Given the description of an element on the screen output the (x, y) to click on. 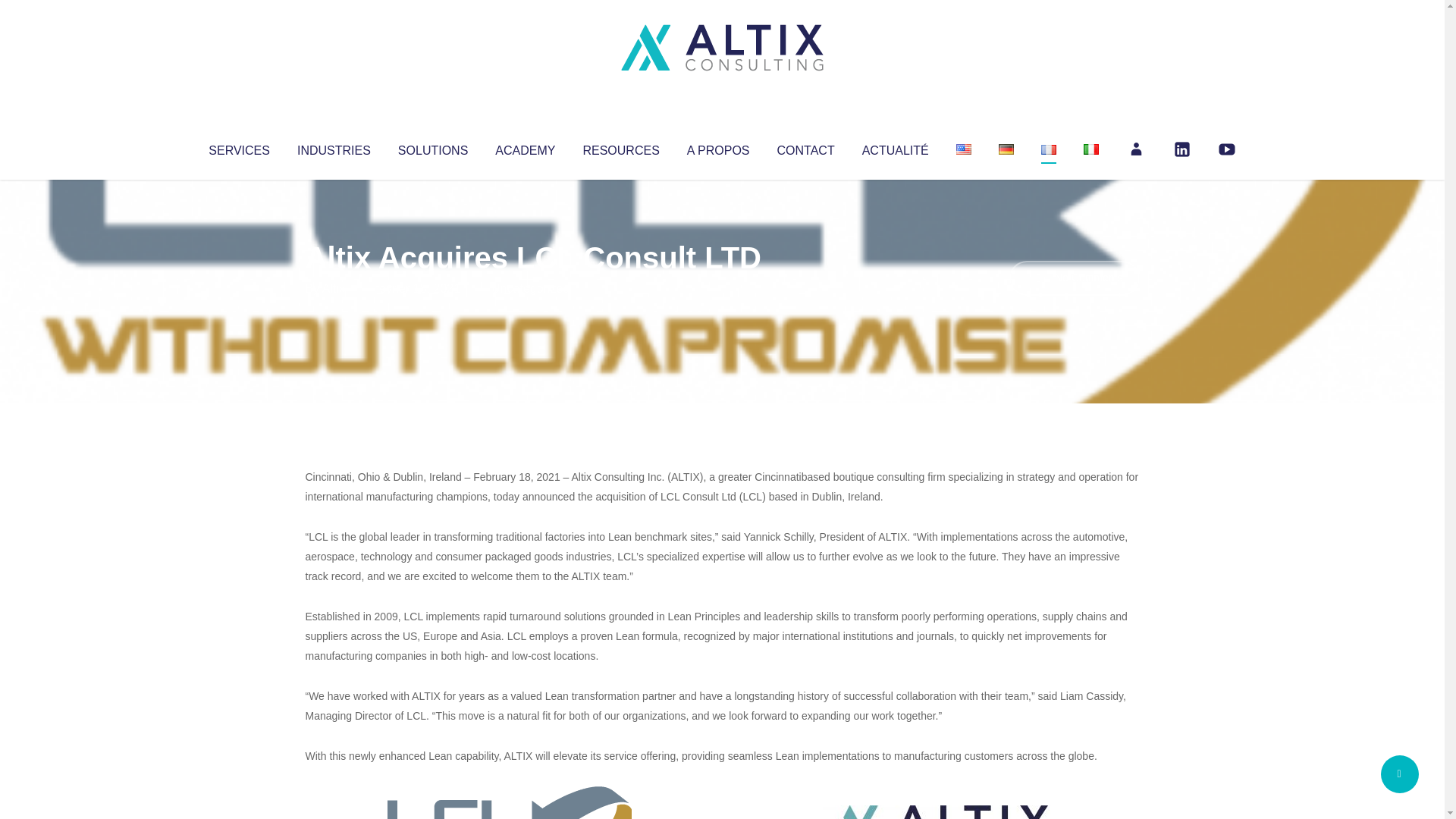
INDUSTRIES (334, 146)
A PROPOS (718, 146)
RESOURCES (620, 146)
Uncategorized (530, 287)
Articles par Altix (333, 287)
SERVICES (238, 146)
Altix (333, 287)
SOLUTIONS (432, 146)
ACADEMY (524, 146)
No Comments (1073, 278)
